Given the description of an element on the screen output the (x, y) to click on. 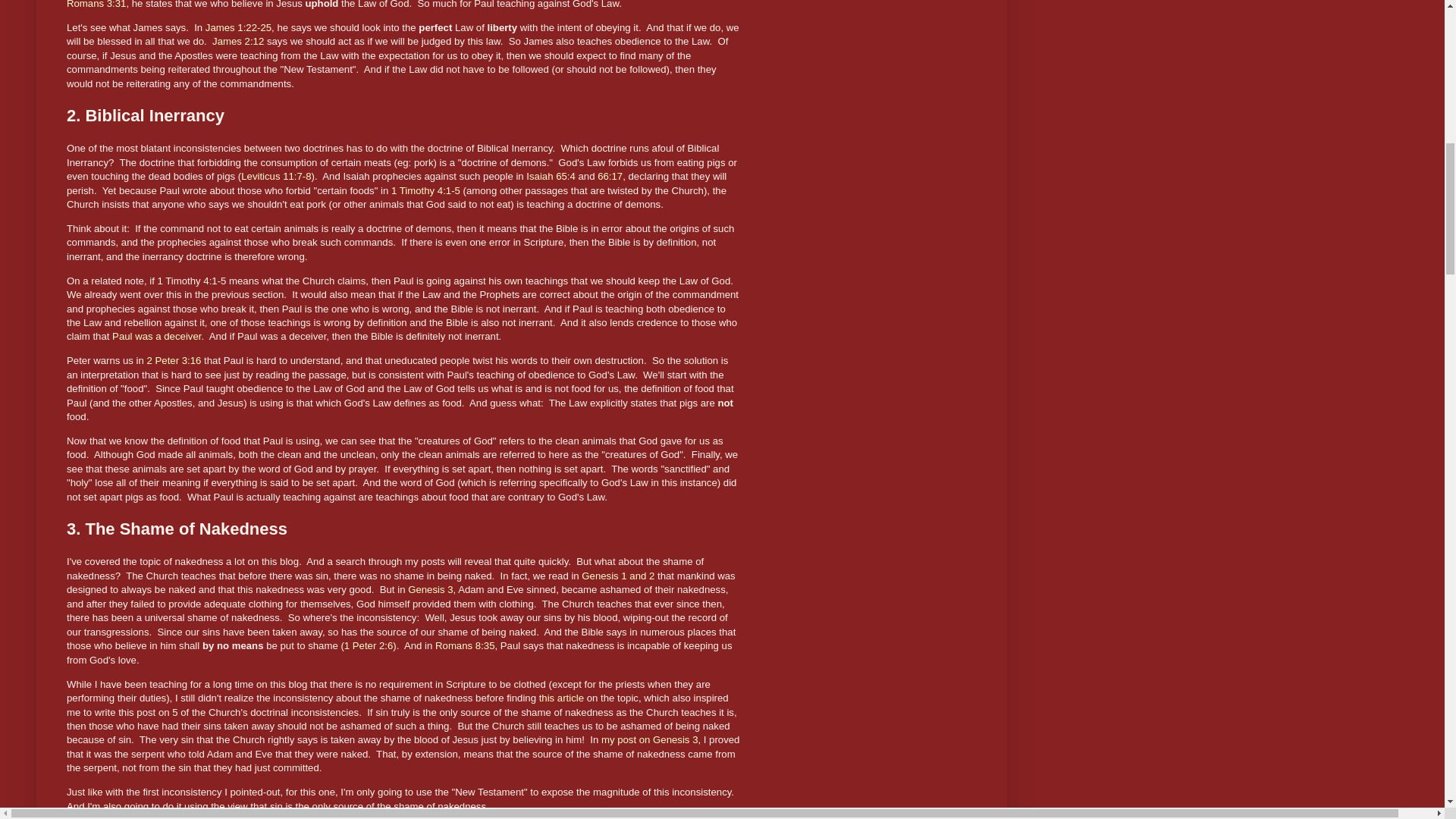
Genesis 1 and 2 (616, 575)
Romans 3:31 (95, 4)
this article (560, 697)
Isaiah 65:4 (550, 175)
2 Peter 3:16 (174, 360)
66:17 (609, 175)
Leviticus 11:7-8 (276, 175)
James 2:12 (237, 41)
Genesis 3 (429, 589)
1 Timothy 4:1-5 (425, 190)
James 1:22-25 (237, 27)
1 Peter 2:6 (368, 645)
my post on Genesis 3 (649, 739)
Paul was a deceiver (156, 336)
Romans 8:35 (465, 645)
